Given the description of an element on the screen output the (x, y) to click on. 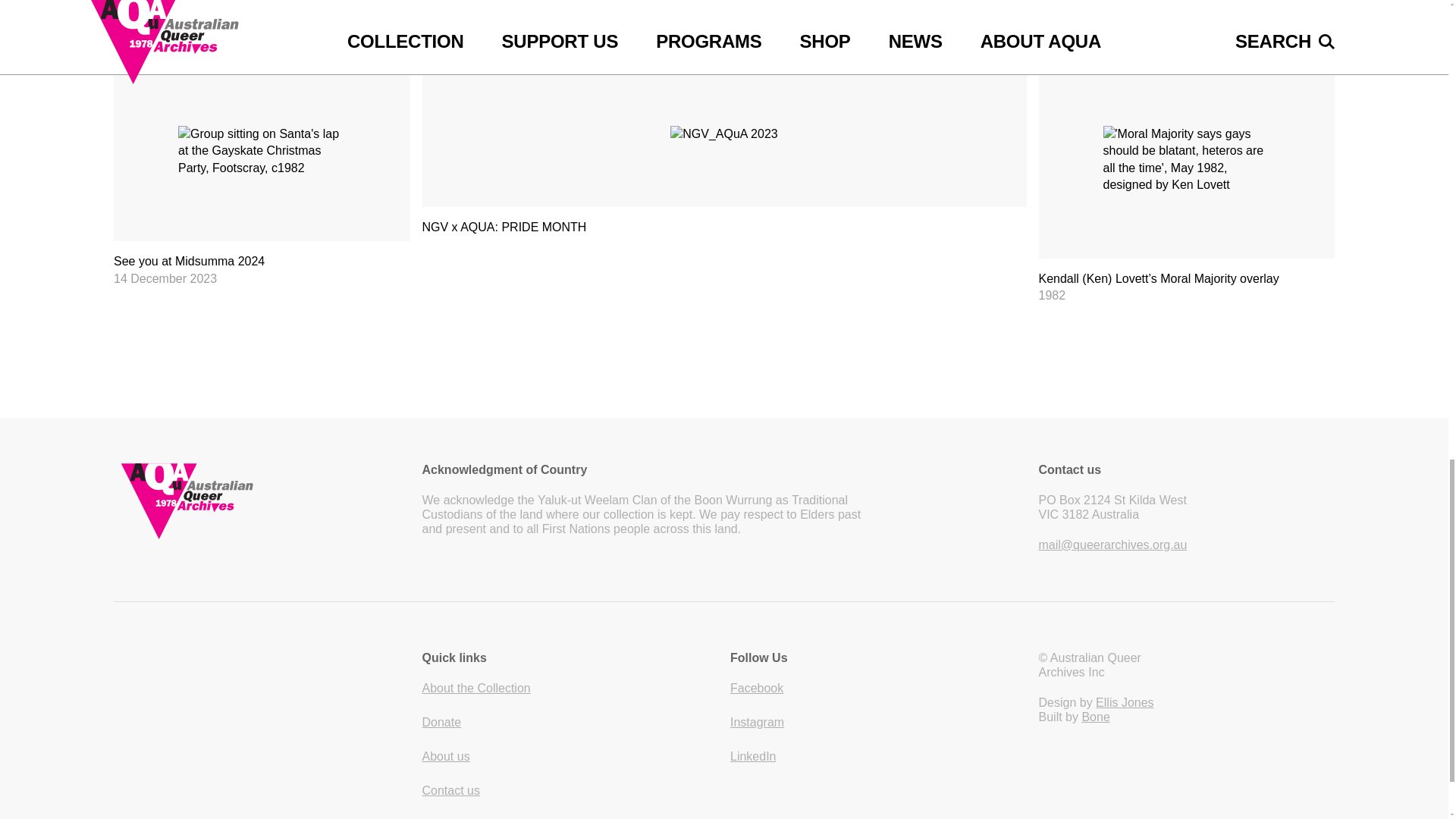
Visit us on Facebook (756, 687)
Visit us on LinkedIn (753, 756)
Visit us on Instagram (757, 721)
NGV x AQUA: PRIDE MONTH (724, 157)
Return Home (261, 500)
See you at Midsumma 2024 (261, 174)
gayskate-christmas-party-1982-featured (261, 150)
Website built by Bone Digital (1095, 716)
Website Design by Ellis Jones (1124, 702)
